Given the description of an element on the screen output the (x, y) to click on. 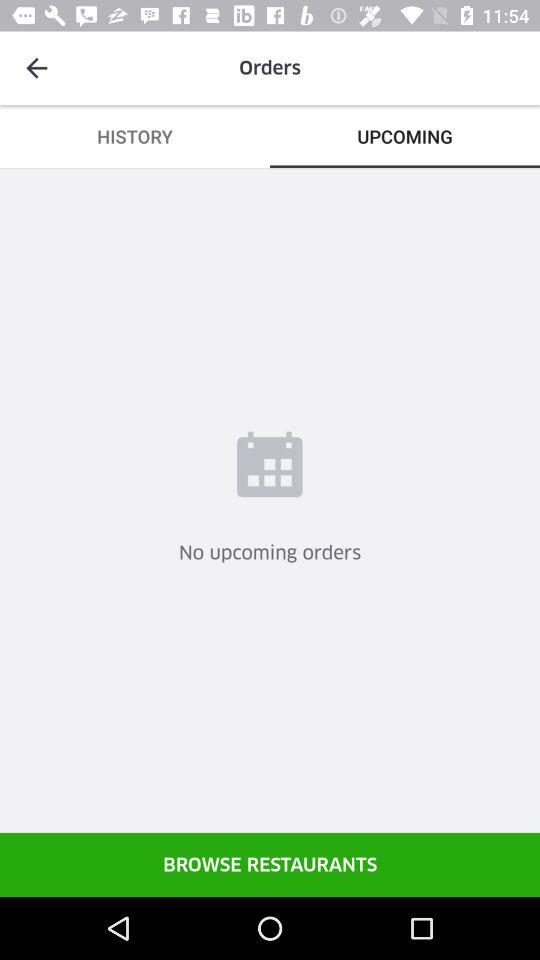
scroll to browse restaurants item (270, 864)
